Given the description of an element on the screen output the (x, y) to click on. 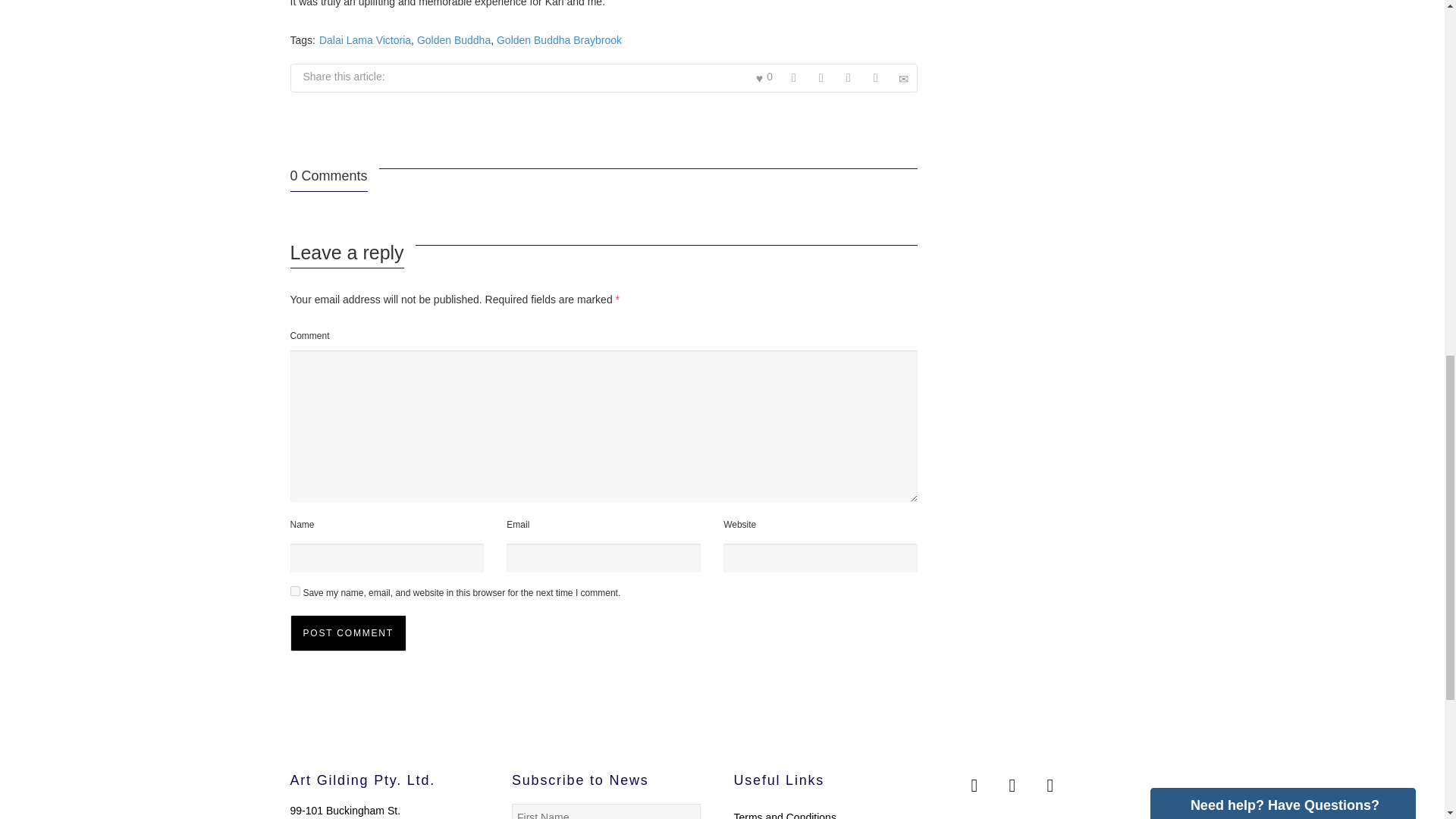
Send (1186, 771)
Post comment (347, 633)
yes (294, 591)
